Given the description of an element on the screen output the (x, y) to click on. 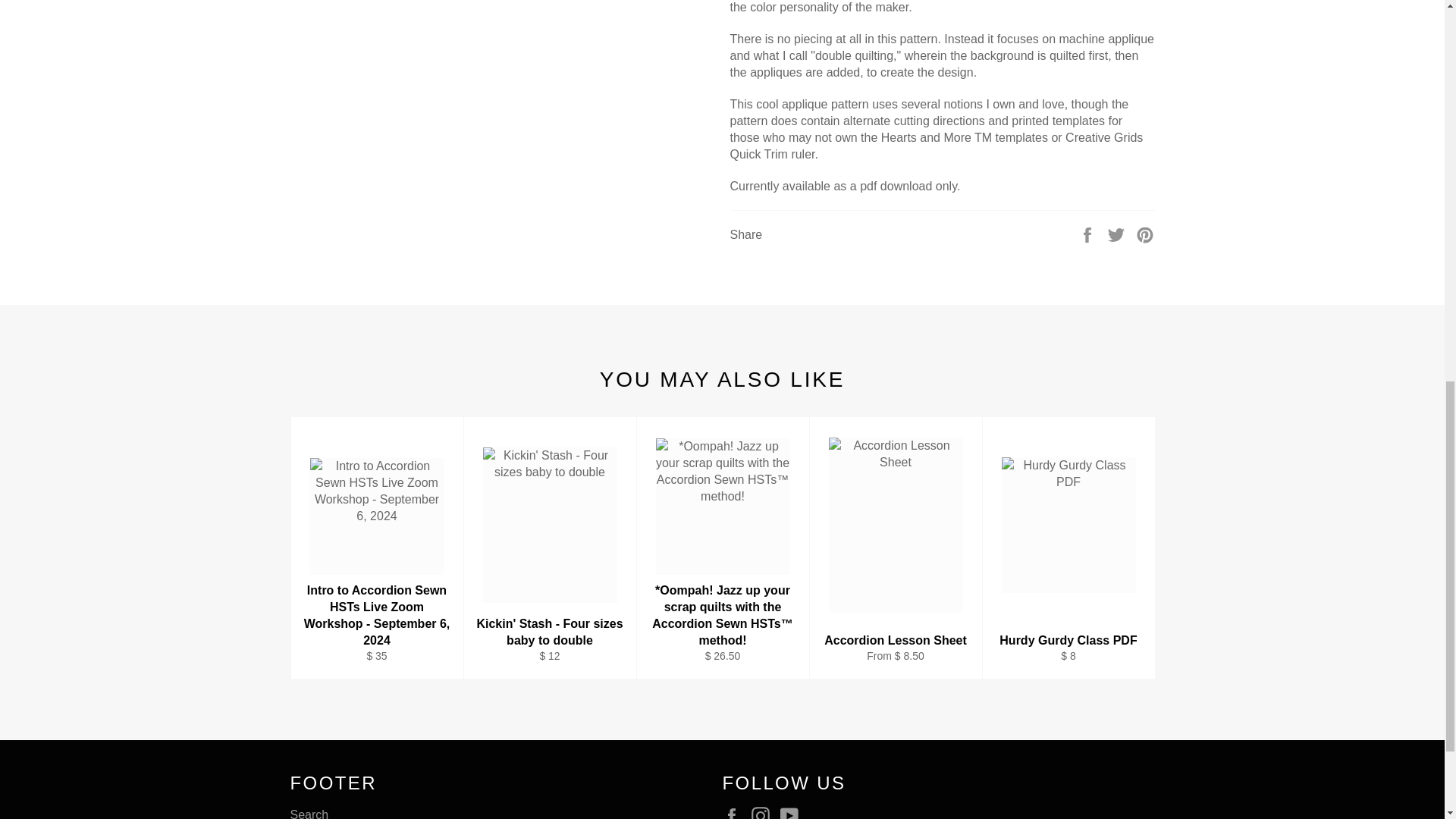
Share on Facebook (1088, 233)
EvaPaige Quilt Designs  on Instagram (764, 812)
EvaPaige Quilt Designs  on YouTube (793, 812)
Share on Facebook (1088, 233)
Tweet on Twitter (1117, 233)
Tweet on Twitter (1117, 233)
Pin on Pinterest (1144, 233)
Pin on Pinterest (1144, 233)
EvaPaige Quilt Designs  on Facebook (735, 812)
